Given the description of an element on the screen output the (x, y) to click on. 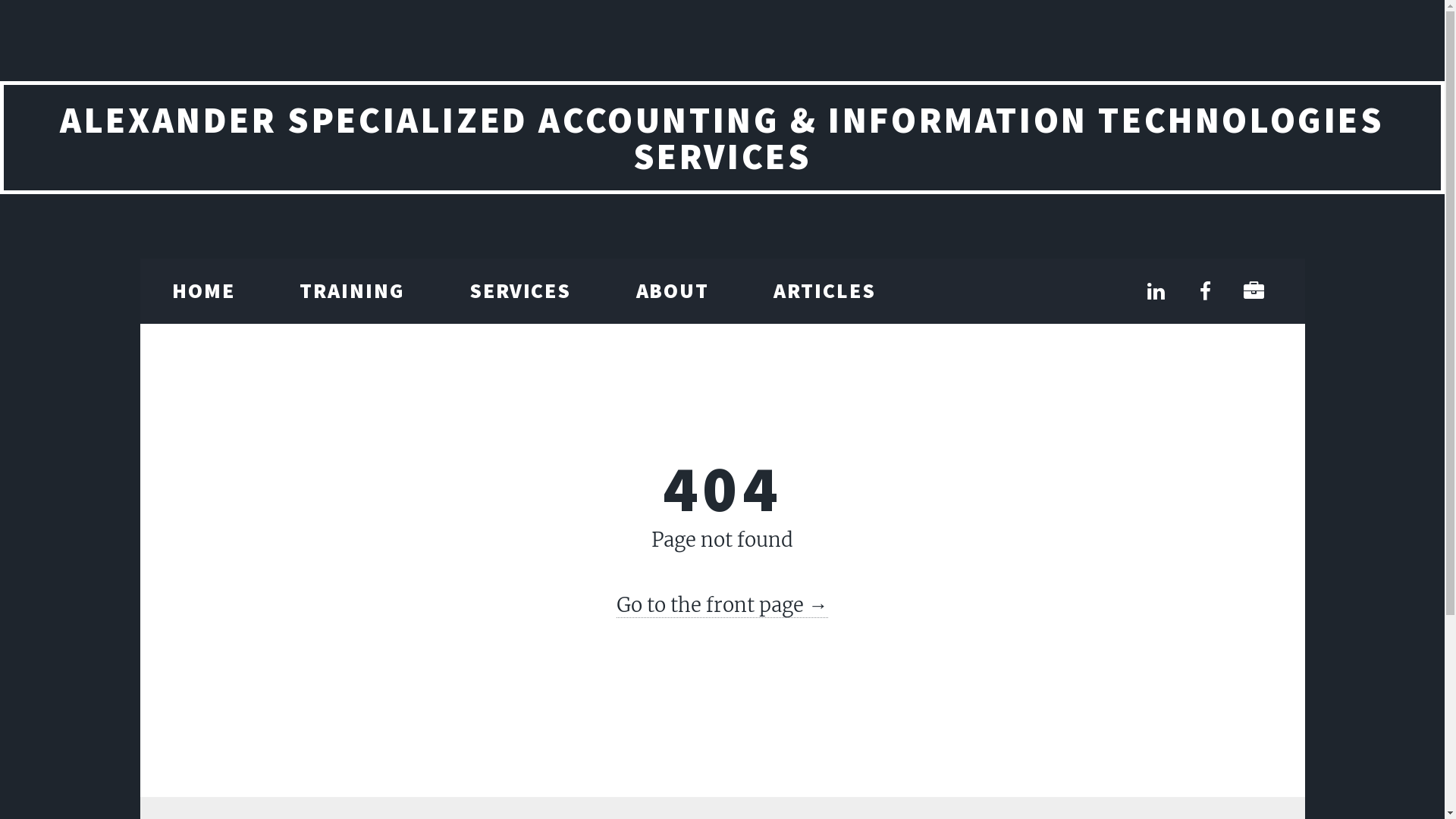
ABOUT Element type: text (672, 290)
SERVICES Element type: text (519, 290)
TRAINING Element type: text (351, 290)
LinkedIn Element type: hover (1156, 291)
ARTICLES Element type: text (824, 290)
Facebook Element type: hover (1204, 291)
HOME Element type: text (202, 290)
QBO Element type: hover (1254, 291)
